Given the description of an element on the screen output the (x, y) to click on. 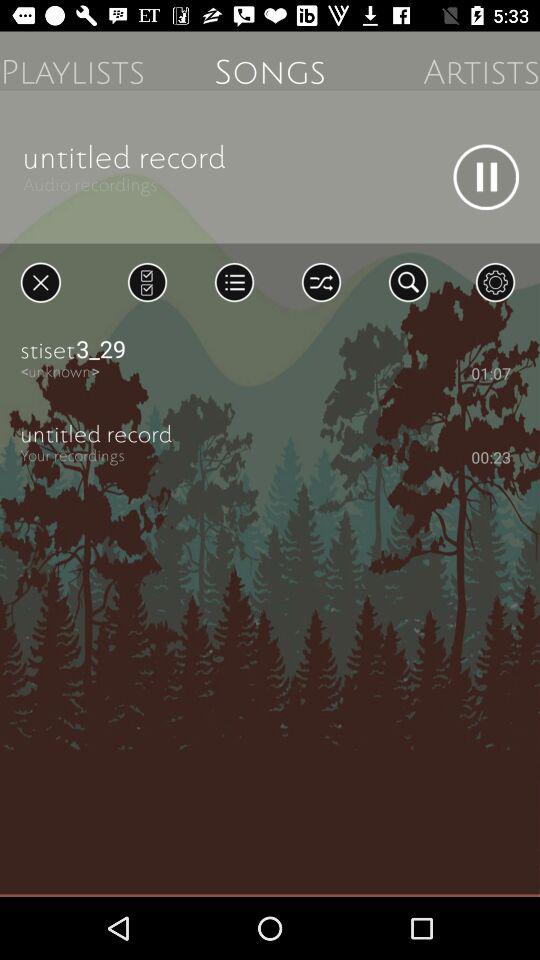
click to show selected record (147, 282)
